Given the description of an element on the screen output the (x, y) to click on. 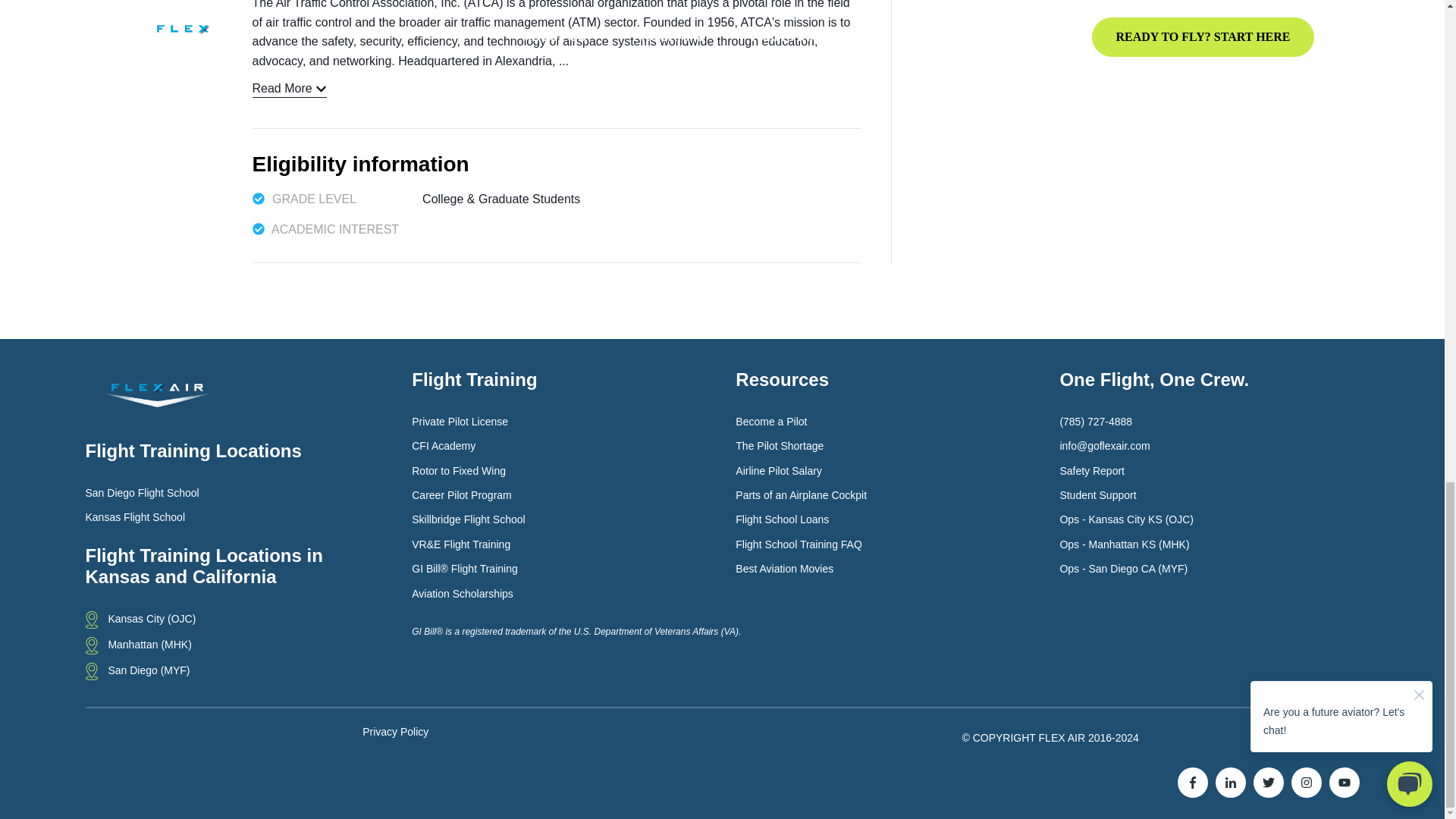
Kansas Flight School (134, 517)
San Diego Flight School (141, 492)
Flex Air (156, 395)
Read More (288, 88)
